Given the description of an element on the screen output the (x, y) to click on. 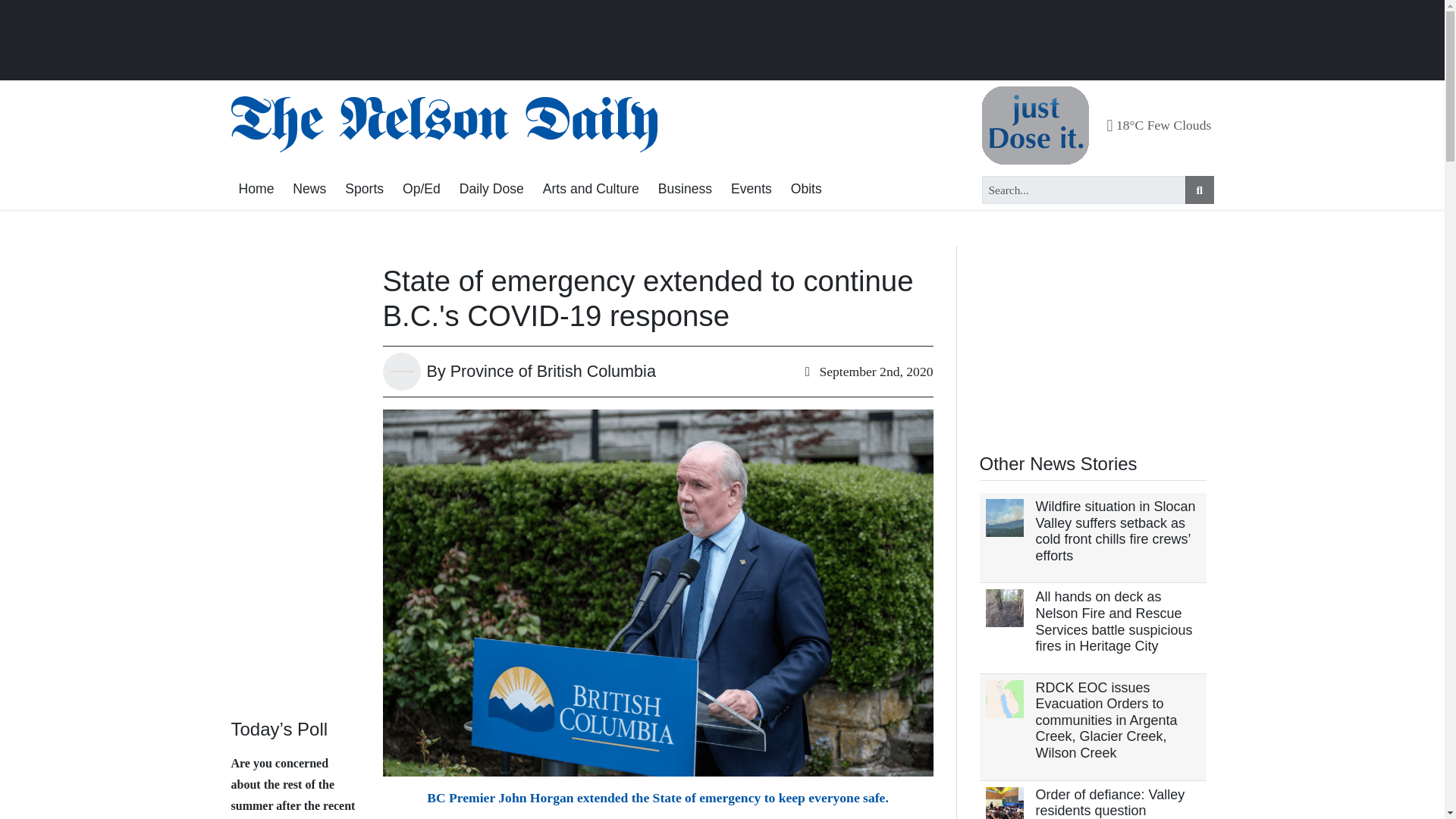
Home (255, 189)
Business (684, 189)
3rd party ad content (721, 41)
Events (750, 189)
Arts and Culture (590, 189)
Sports (364, 189)
Daily Dose (491, 189)
Obits (806, 189)
3rd party ad content (1093, 339)
News (309, 189)
